Given the description of an element on the screen output the (x, y) to click on. 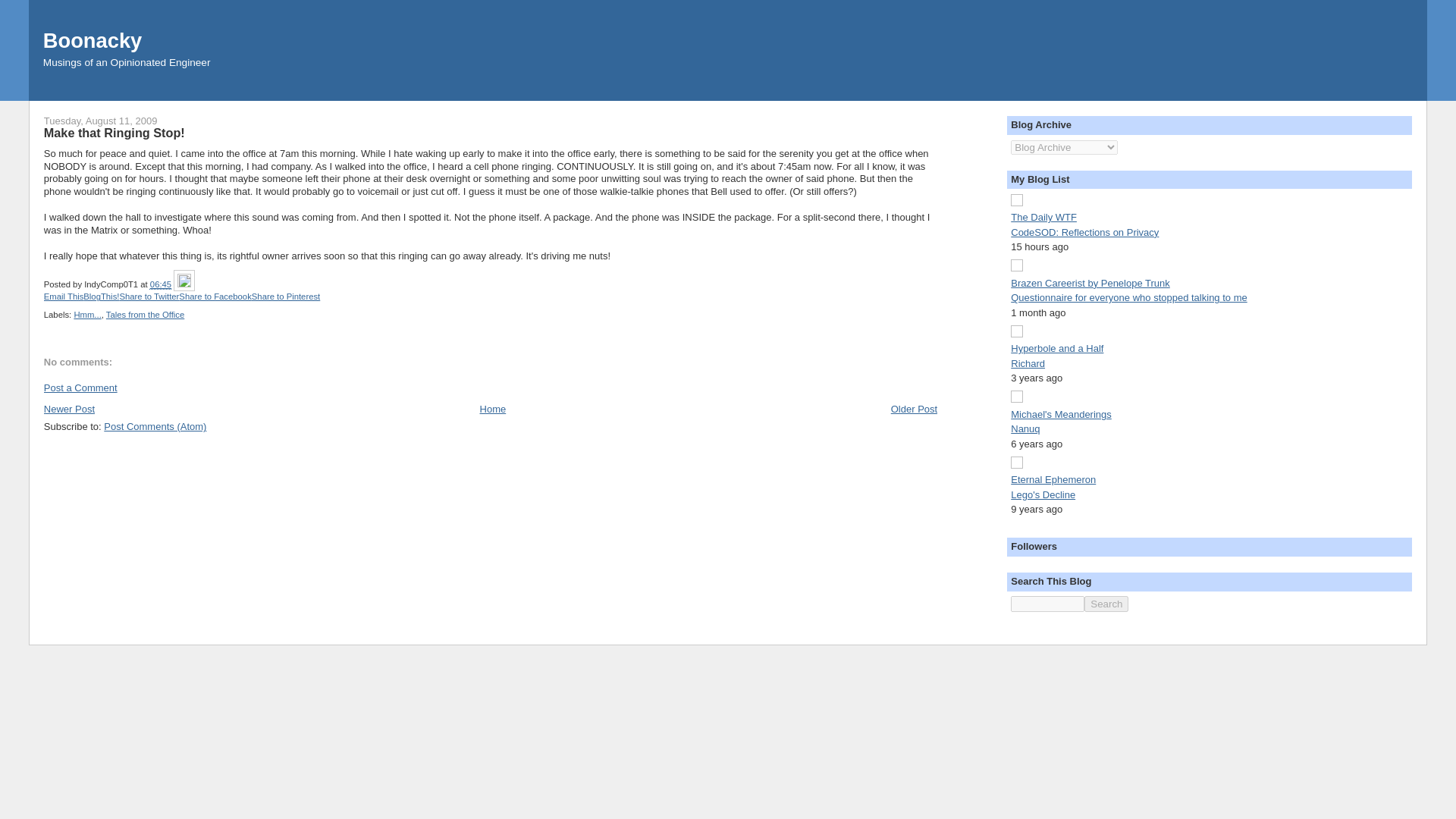
Michael's Meanderings (1061, 414)
Nanuq (1024, 428)
Share to Twitter (149, 296)
Richard (1027, 363)
permanent link (160, 284)
Search (1106, 603)
Newer Post (68, 408)
BlogThis! (100, 296)
Share to Facebook (214, 296)
Post a Comment (80, 387)
Search (1106, 603)
Newer Post (68, 408)
Tales from the Office (145, 314)
BlogThis! (100, 296)
Share to Facebook (214, 296)
